Given the description of an element on the screen output the (x, y) to click on. 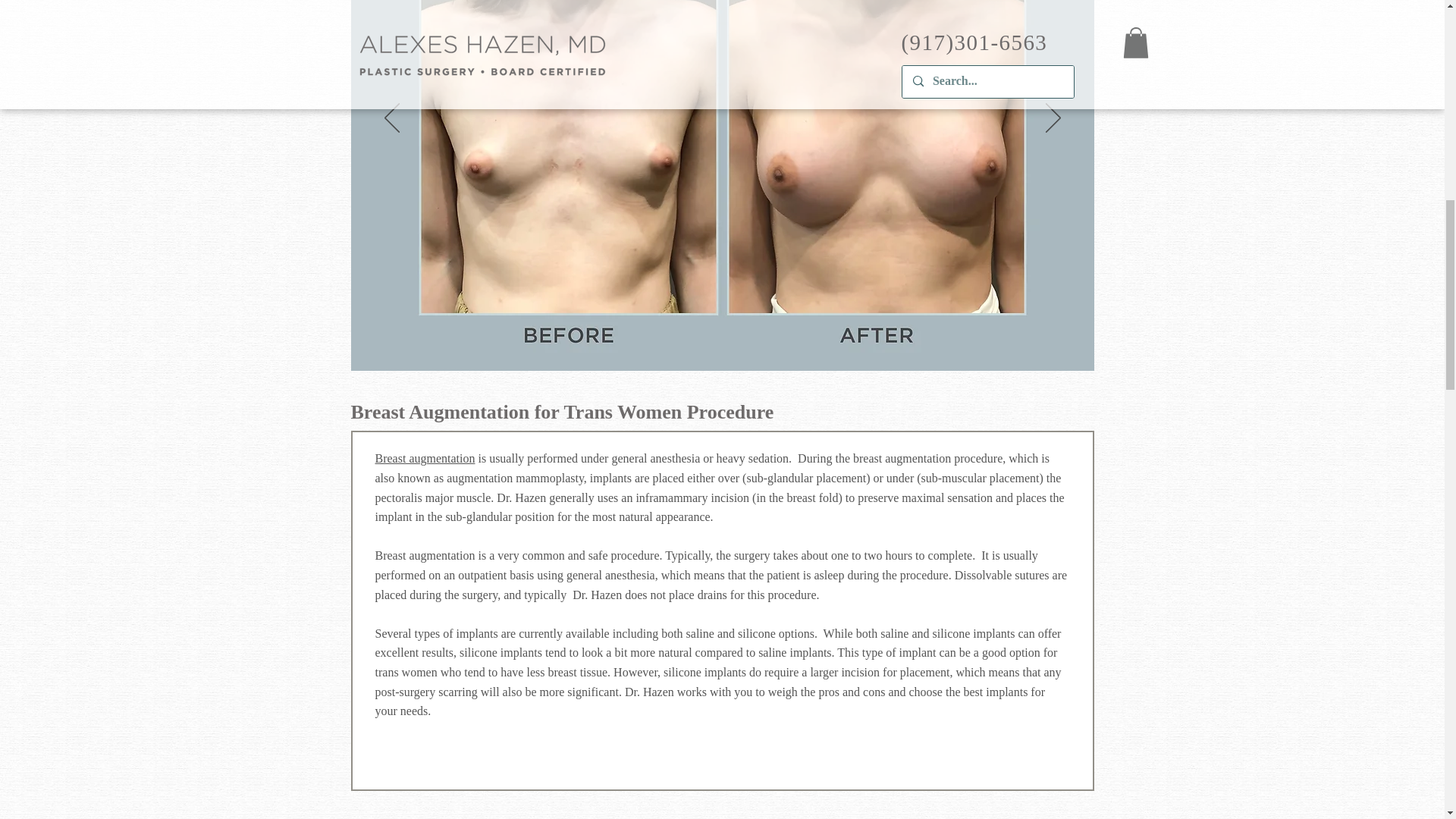
Breast augmentation (424, 458)
